Given the description of an element on the screen output the (x, y) to click on. 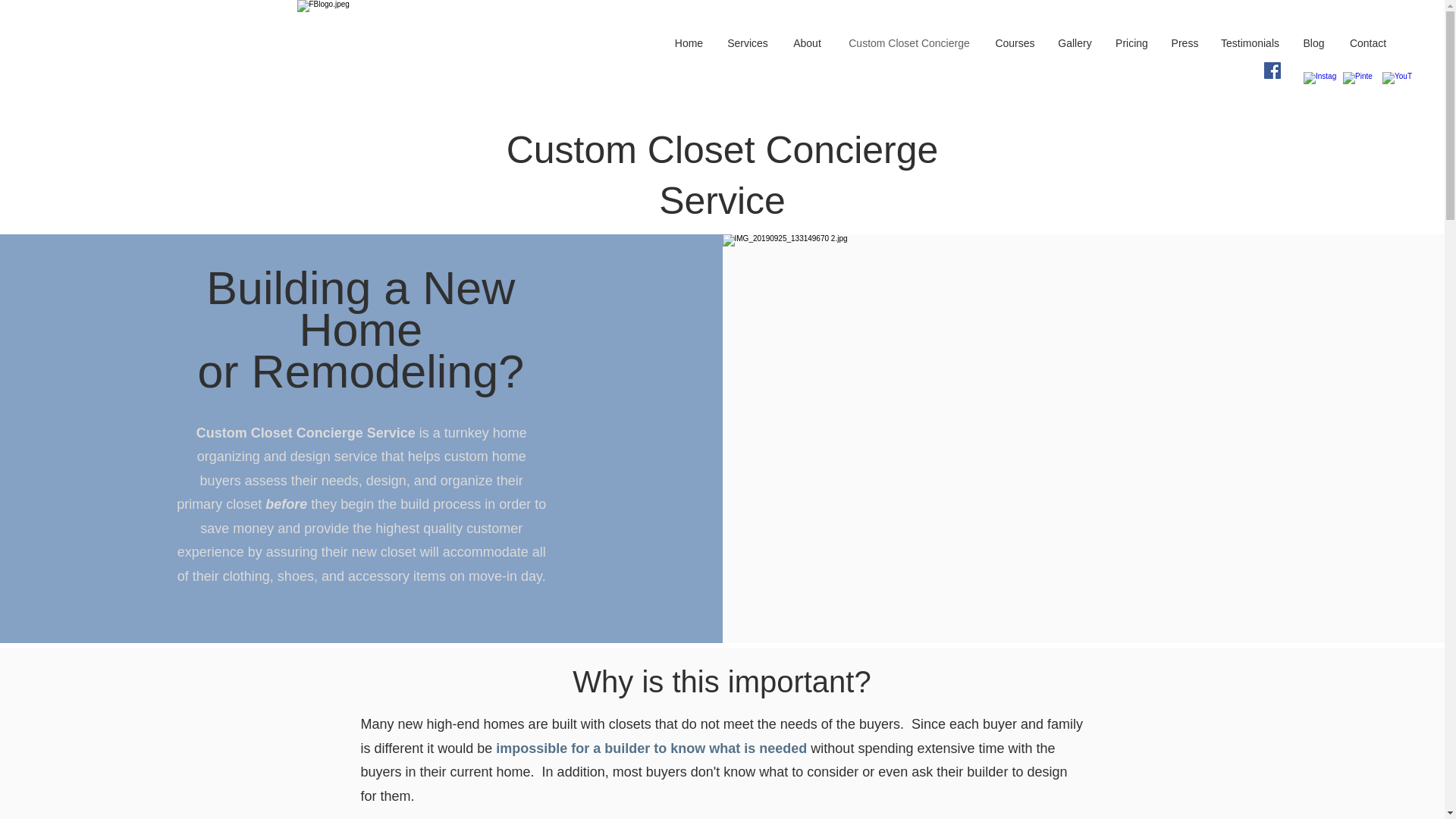
Courses (1015, 43)
Gallery (1074, 43)
Services (747, 43)
About (806, 43)
Blog (1313, 43)
Pricing (1131, 43)
Testimonials (1249, 43)
Home (689, 43)
Contact (1367, 43)
Press (1184, 43)
